Given the description of an element on the screen output the (x, y) to click on. 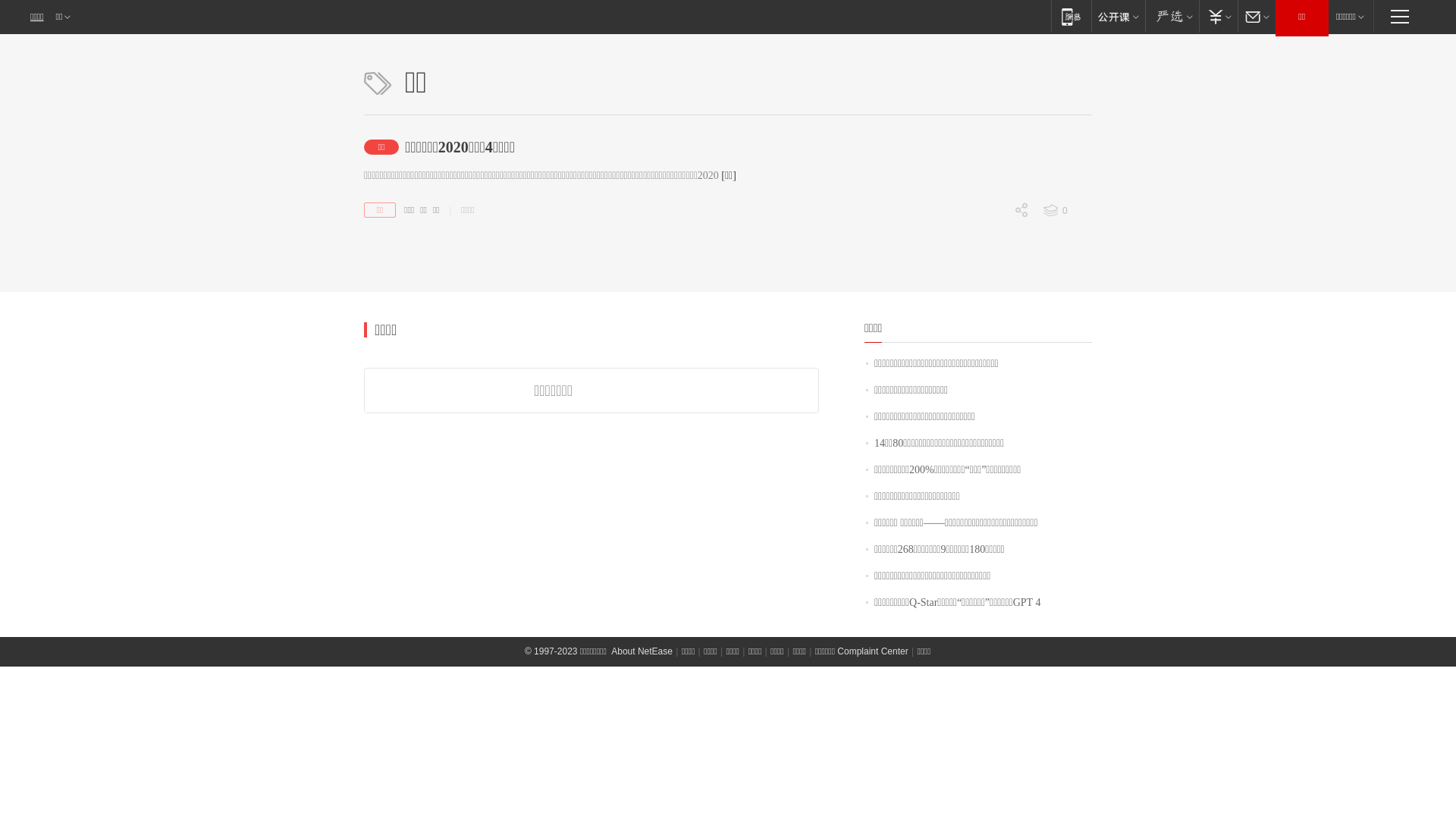
About NetEase Element type: text (641, 651)
0 Element type: text (991, 289)
0 Element type: text (991, 316)
0 Element type: text (991, 236)
0 Element type: text (1065, 210)
